Given the description of an element on the screen output the (x, y) to click on. 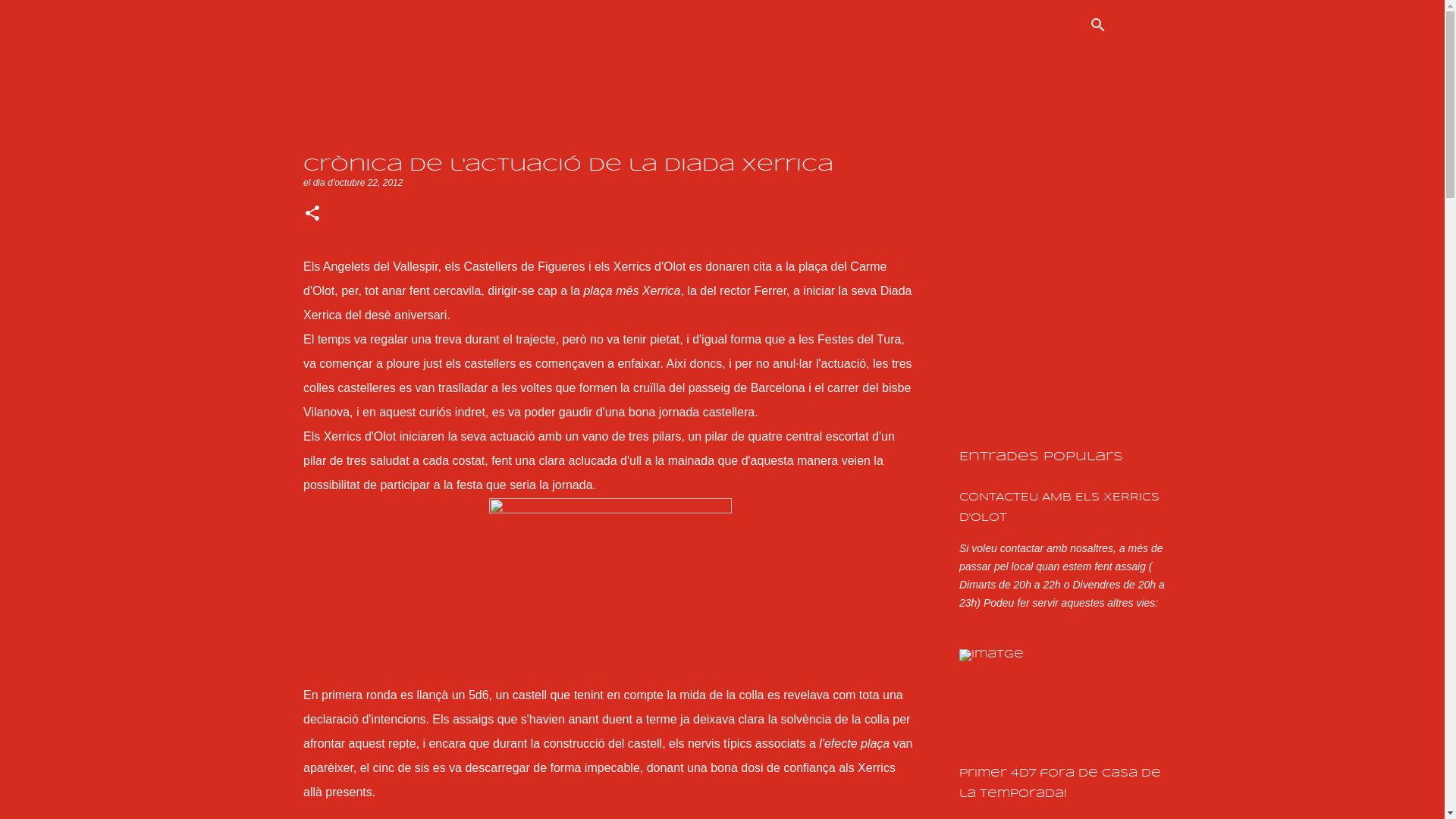
Castellers de Figueres Element type: text (523, 266)
Primer 4d7 fora de casa de la temporada! Element type: text (1060, 783)
Angelets del Vallespir Element type: text (380, 266)
XERRICS D'OLOT Element type: text (336, 24)
CONTACTEU AMB ELS XERRICS D'OLOT Element type: text (1059, 507)
